Given the description of an element on the screen output the (x, y) to click on. 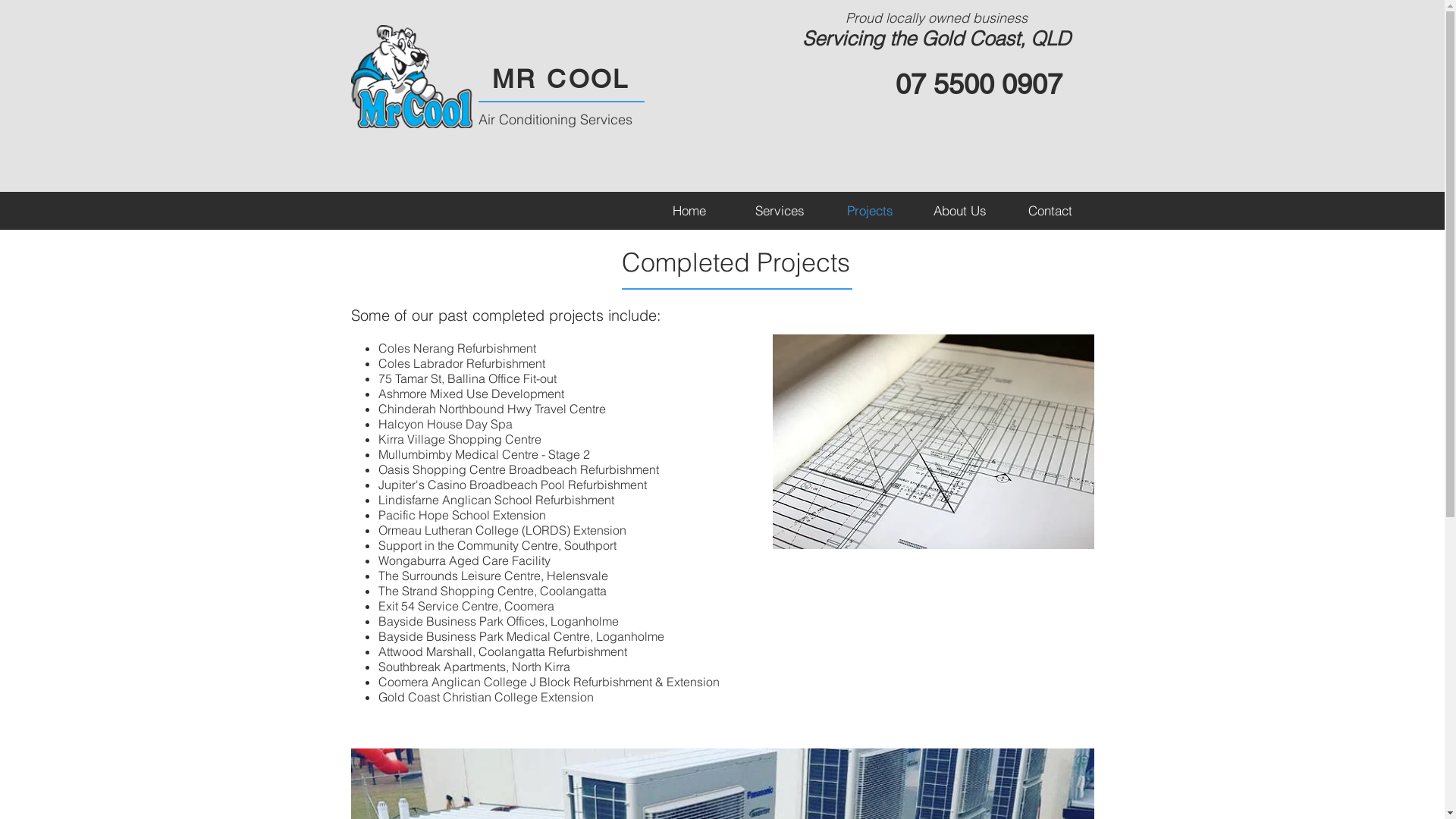
About Us Element type: text (959, 210)
Air Conditioning Services Element type: text (554, 119)
Projects Element type: text (870, 210)
Contact Element type: text (1050, 210)
Home Element type: text (689, 210)
Services Element type: text (779, 210)
MR COOL Element type: text (561, 78)
